Given the description of an element on the screen output the (x, y) to click on. 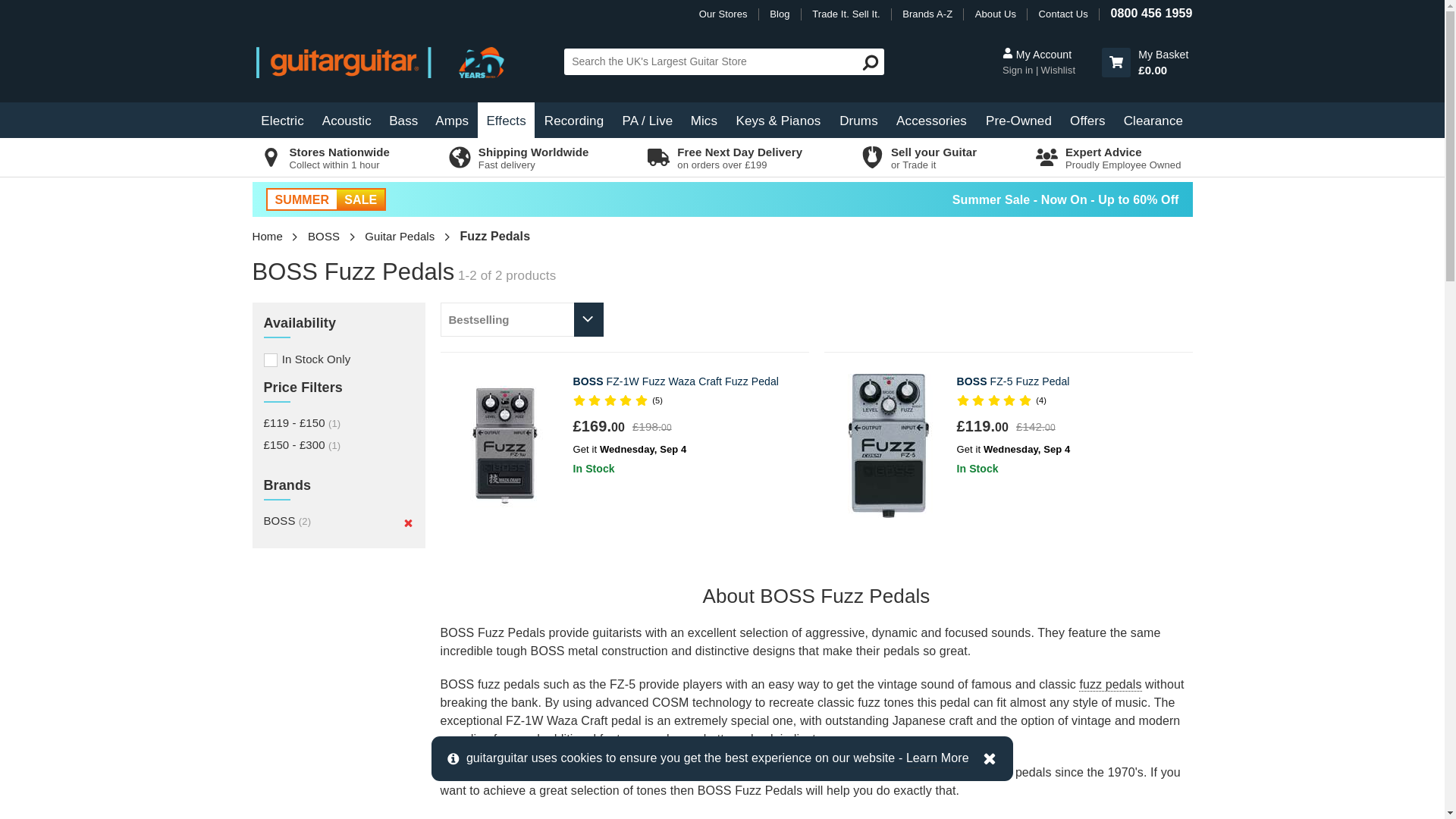
Checkout (1144, 62)
Brands A-Z (927, 13)
guitarguitar (390, 61)
Wishlist (1055, 70)
Sign in (1019, 70)
Trade It. Sell It. (845, 13)
My Account (1050, 55)
0800 456 1959 (1150, 12)
About Us (995, 13)
Electric (282, 120)
